Given the description of an element on the screen output the (x, y) to click on. 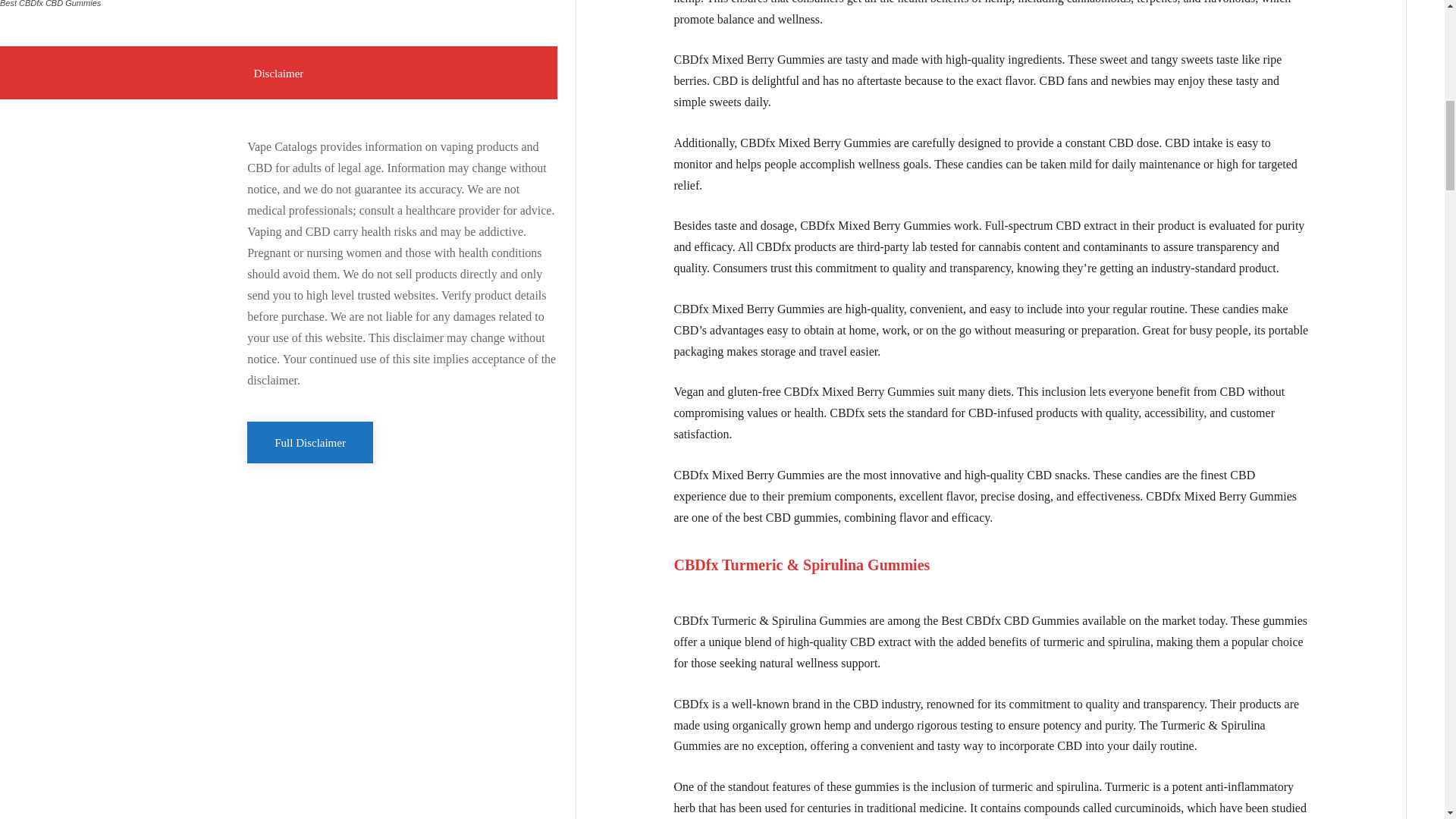
Disclaimer (278, 72)
Full Disclaimer (309, 442)
Disclaimer (278, 72)
Full Disclaimer (309, 442)
